Given the description of an element on the screen output the (x, y) to click on. 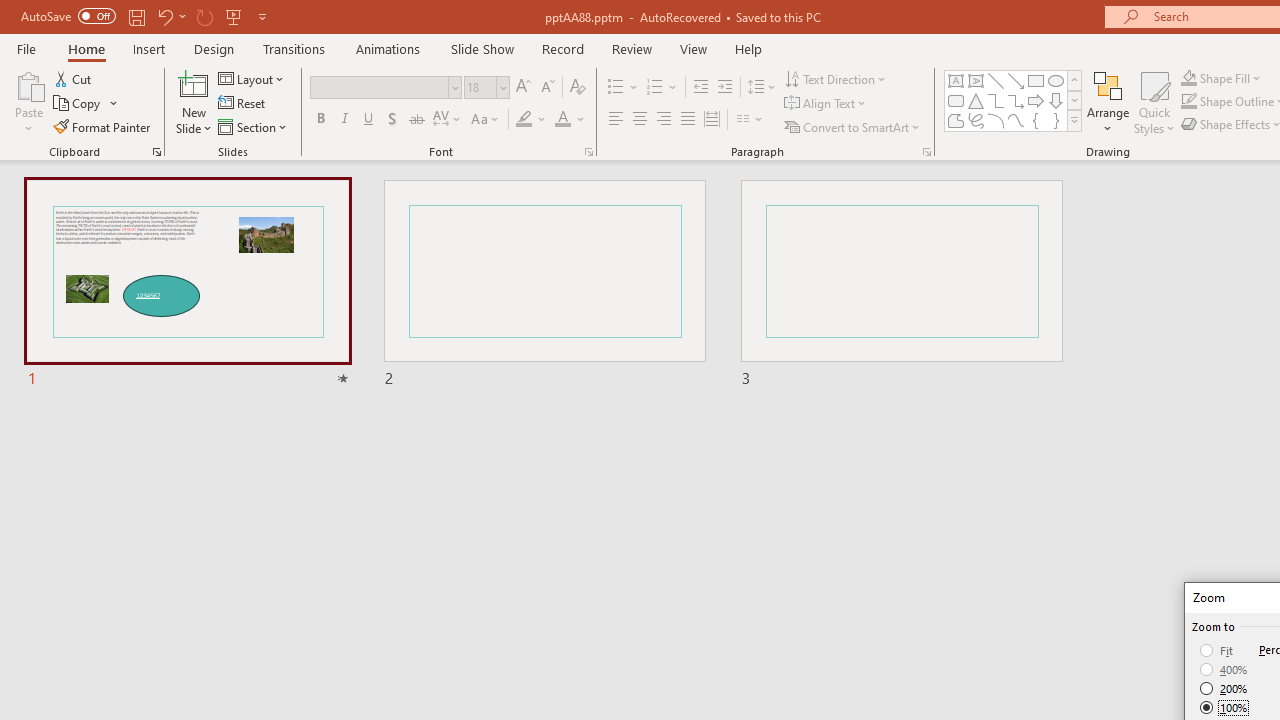
200% (1224, 688)
